Given the description of an element on the screen output the (x, y) to click on. 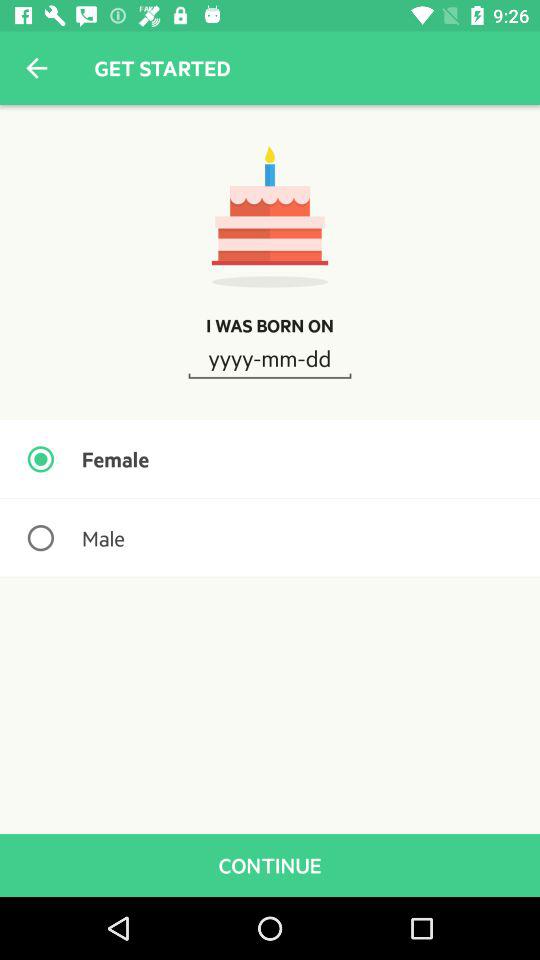
select the icon below i was born icon (269, 357)
